Given the description of an element on the screen output the (x, y) to click on. 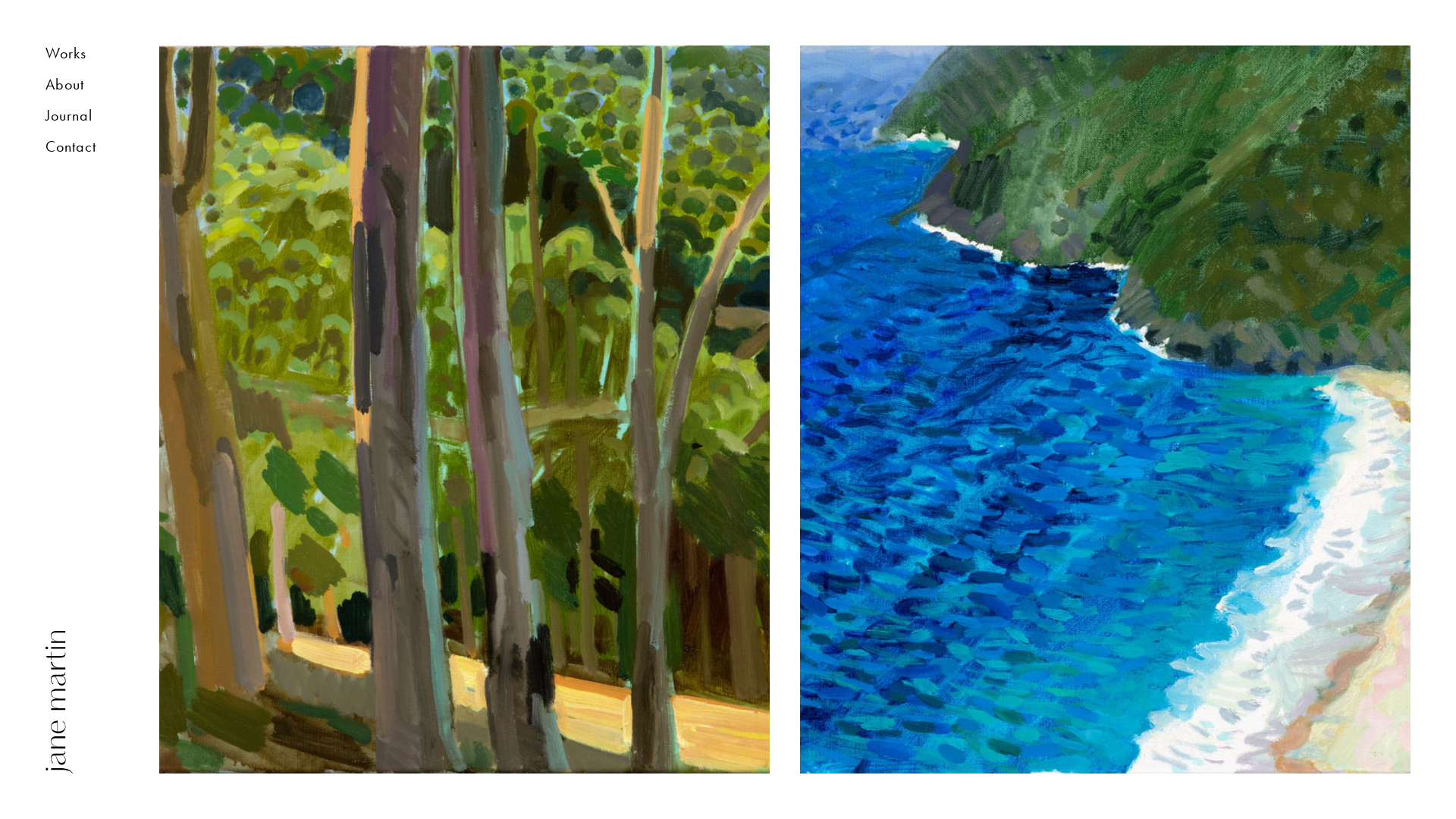
Journal Element type: text (79, 119)
About Element type: text (79, 88)
Works Element type: text (79, 57)
Contact Element type: text (79, 150)
